Given the description of an element on the screen output the (x, y) to click on. 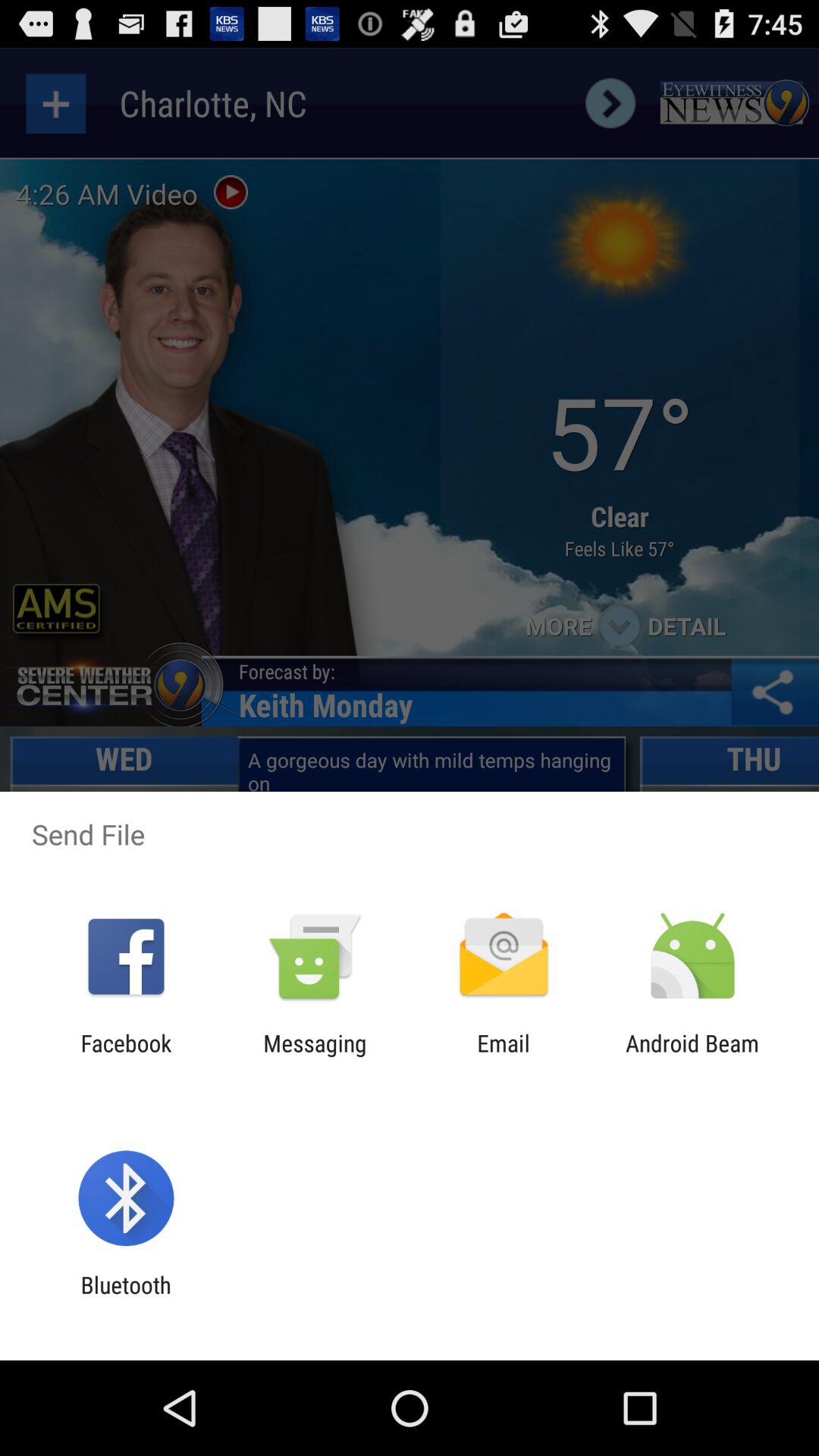
jump to the bluetooth item (125, 1298)
